Given the description of an element on the screen output the (x, y) to click on. 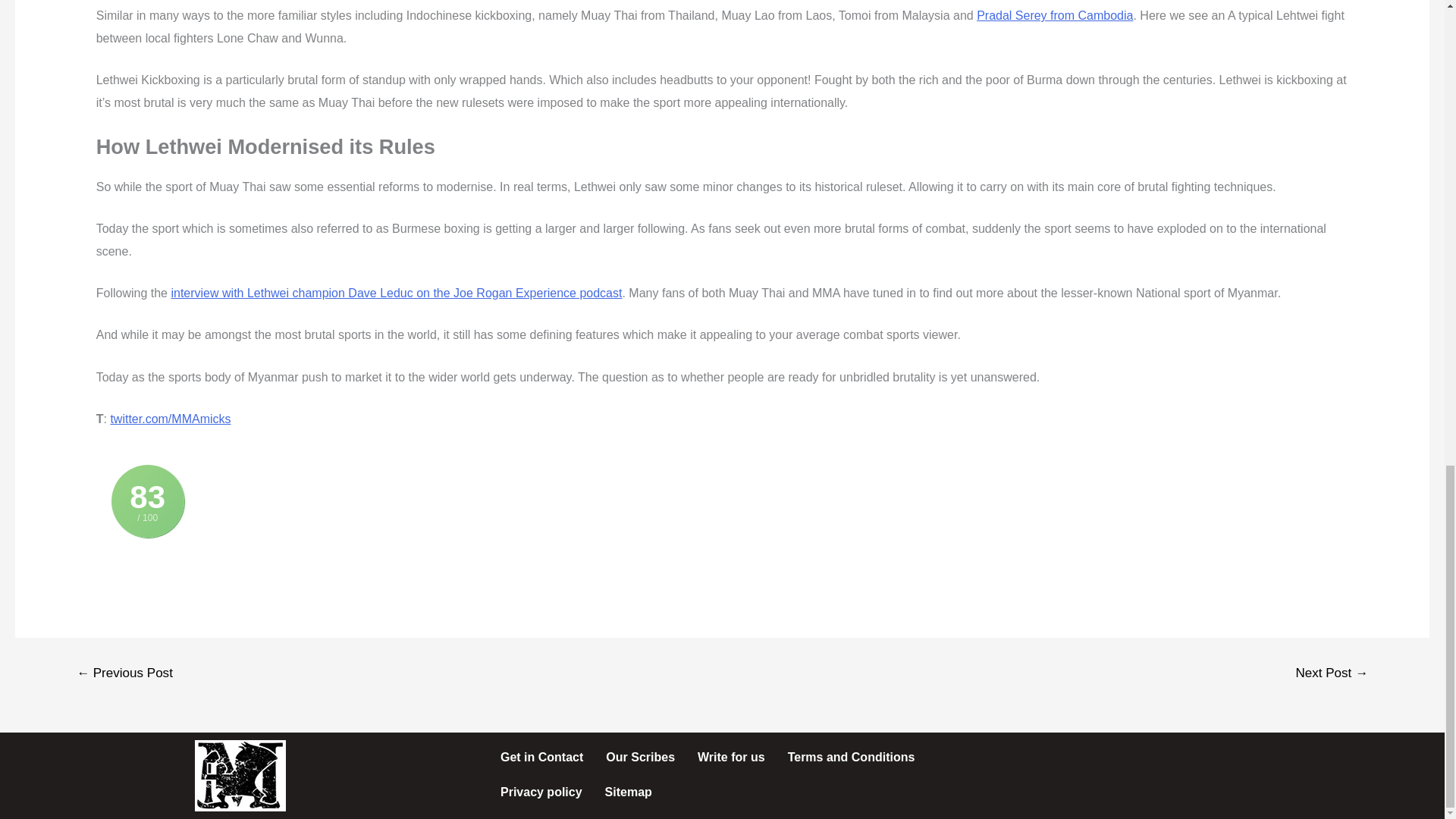
Get in Contact (541, 757)
Our Scribes (639, 757)
Privacy policy (541, 791)
Pradal Serey from Cambodia (1054, 15)
Scribes (639, 757)
Contact (541, 757)
Write for us (730, 757)
Write for us (730, 757)
Terms and Conditions (851, 757)
